Given the description of an element on the screen output the (x, y) to click on. 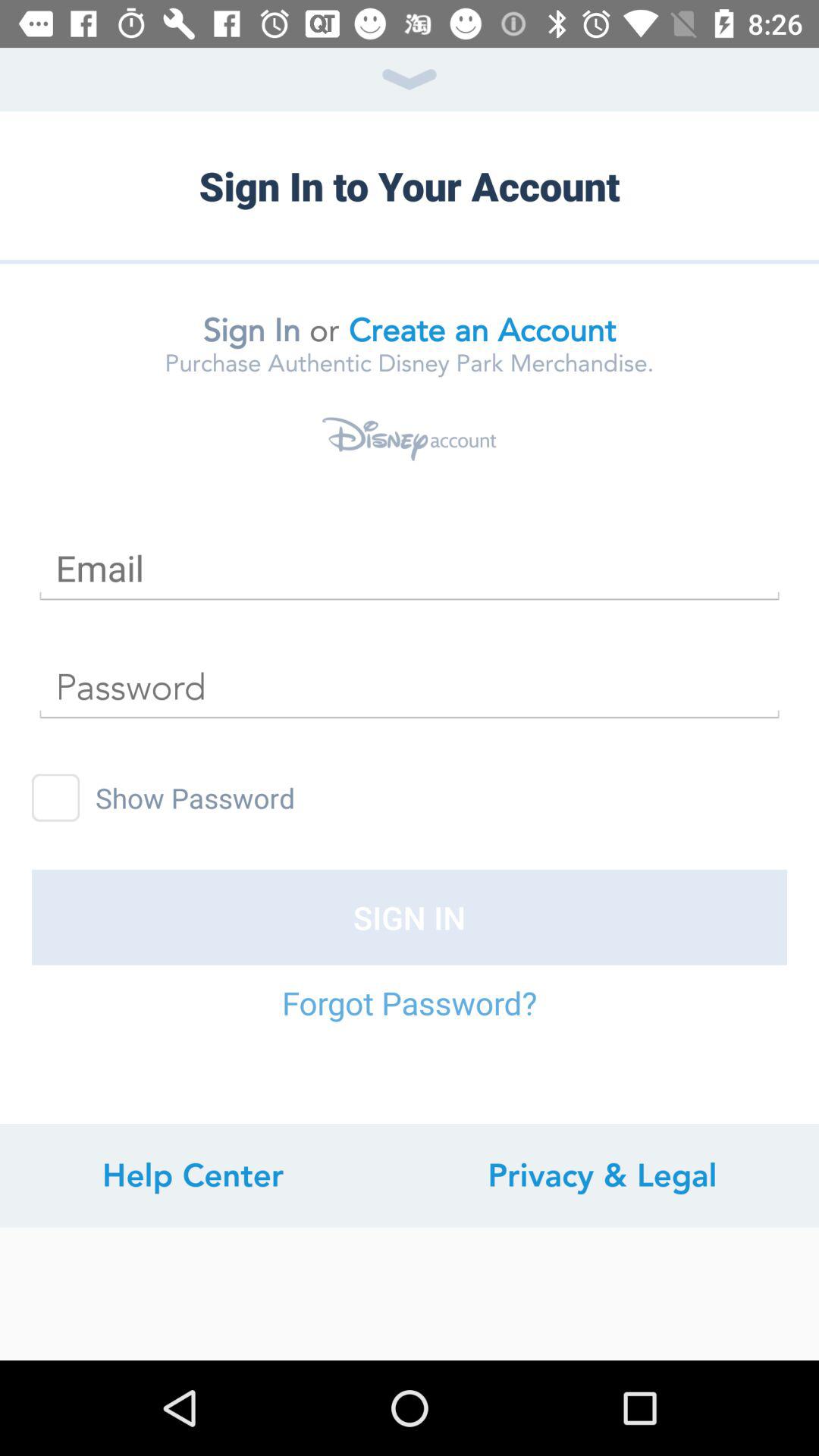
show password (55, 797)
